Given the description of an element on the screen output the (x, y) to click on. 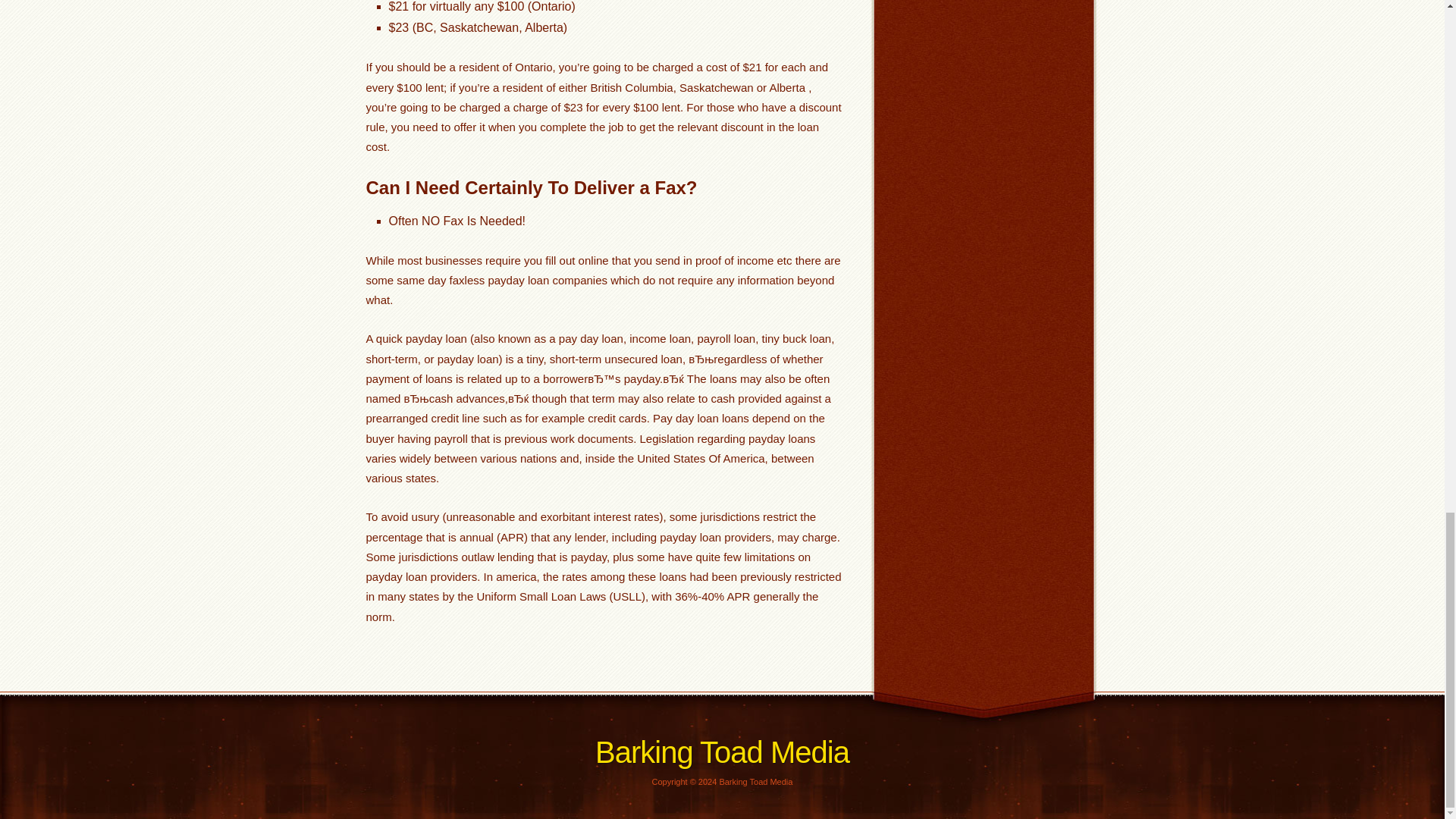
Barking Toad Media (721, 752)
Barking Toad Media (721, 752)
